Given the description of an element on the screen output the (x, y) to click on. 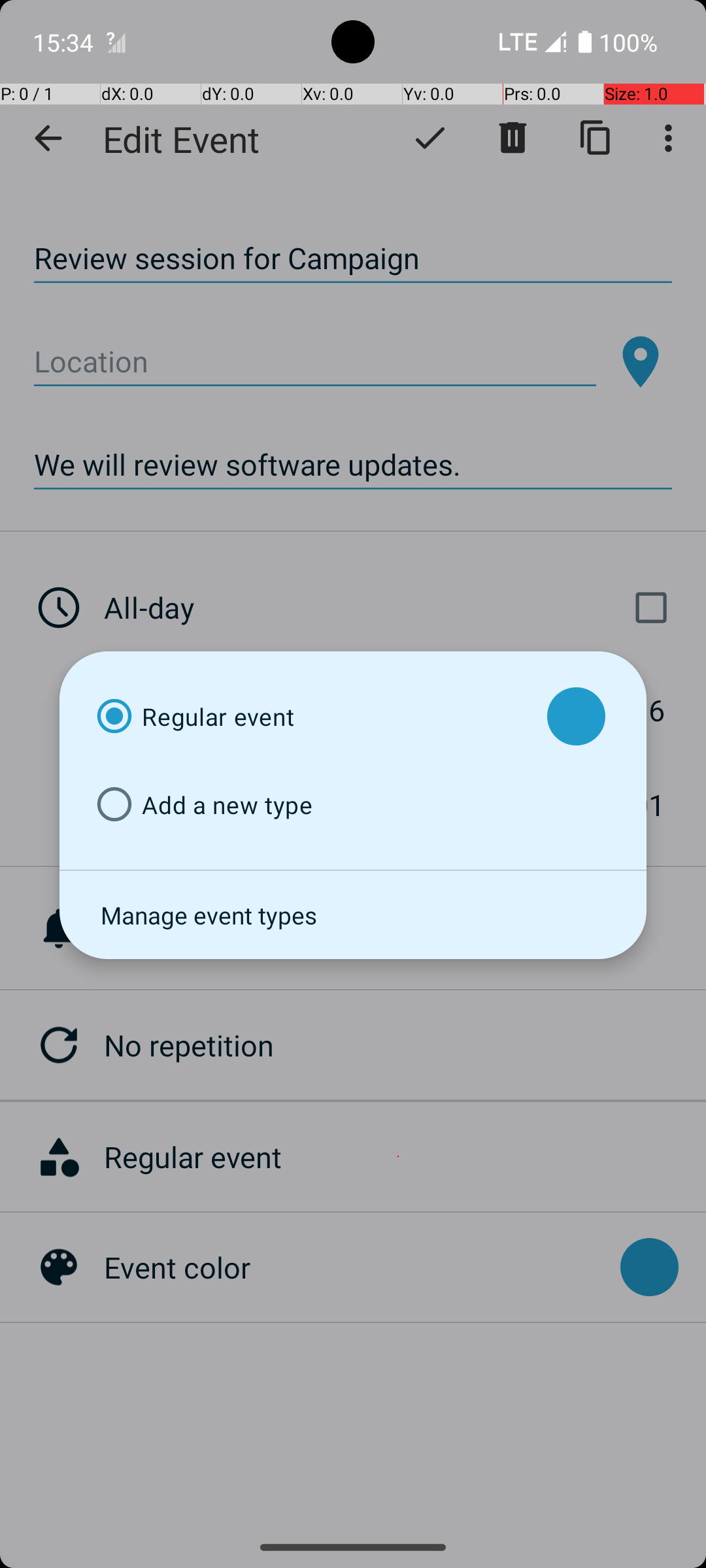
Add a new type Element type: android.widget.RadioButton (309, 804)
